Given the description of an element on the screen output the (x, y) to click on. 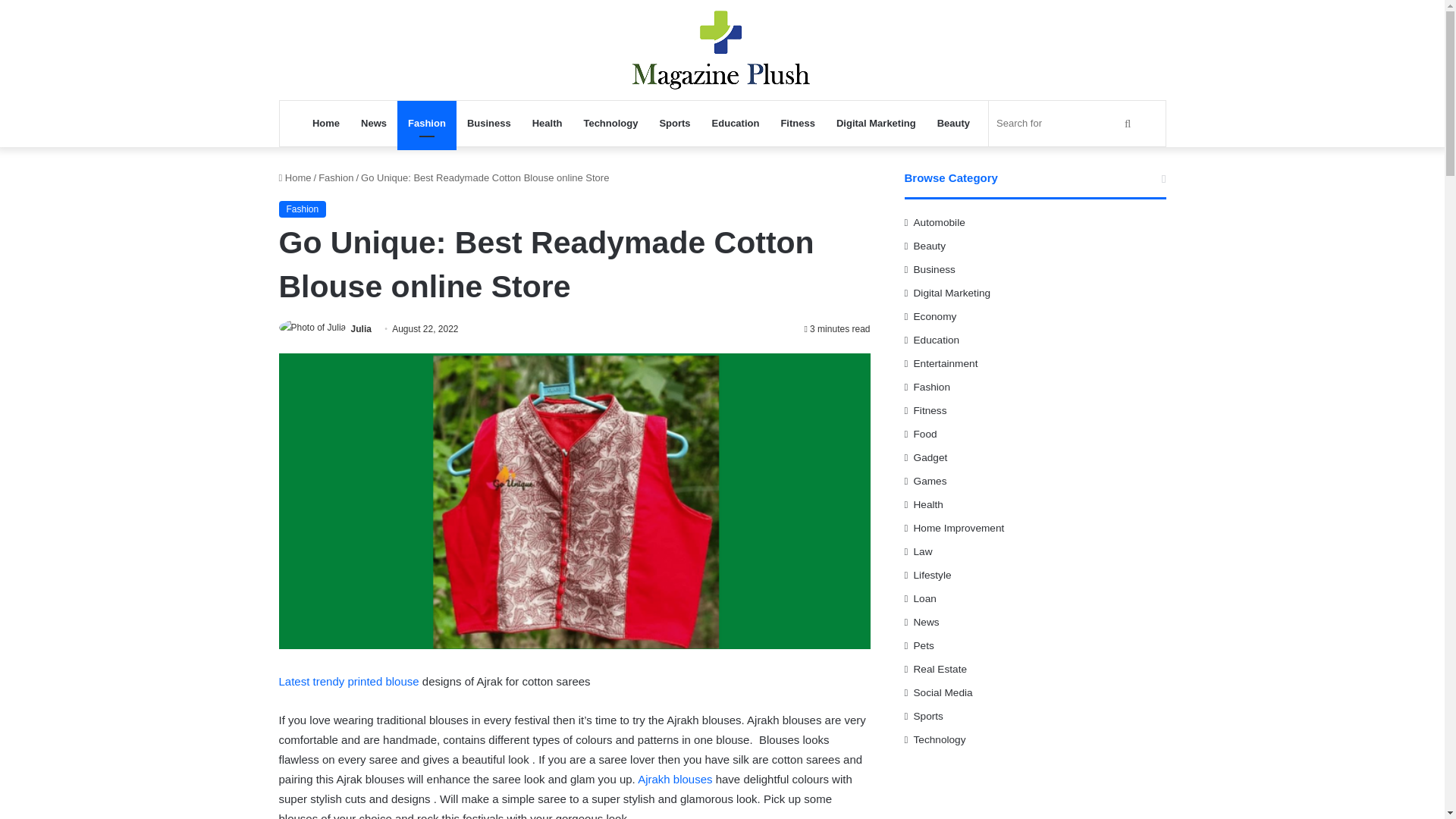
Home (295, 177)
Latest trendy printed blouse (349, 680)
News (373, 123)
Technology (609, 123)
Digital Marketing (875, 123)
Health (547, 123)
Fashion (427, 123)
Sports (673, 123)
My Blog (722, 49)
Home (325, 123)
Julia (360, 328)
Fitness (797, 123)
Fashion (302, 208)
Beauty (952, 123)
Business (489, 123)
